Given the description of an element on the screen output the (x, y) to click on. 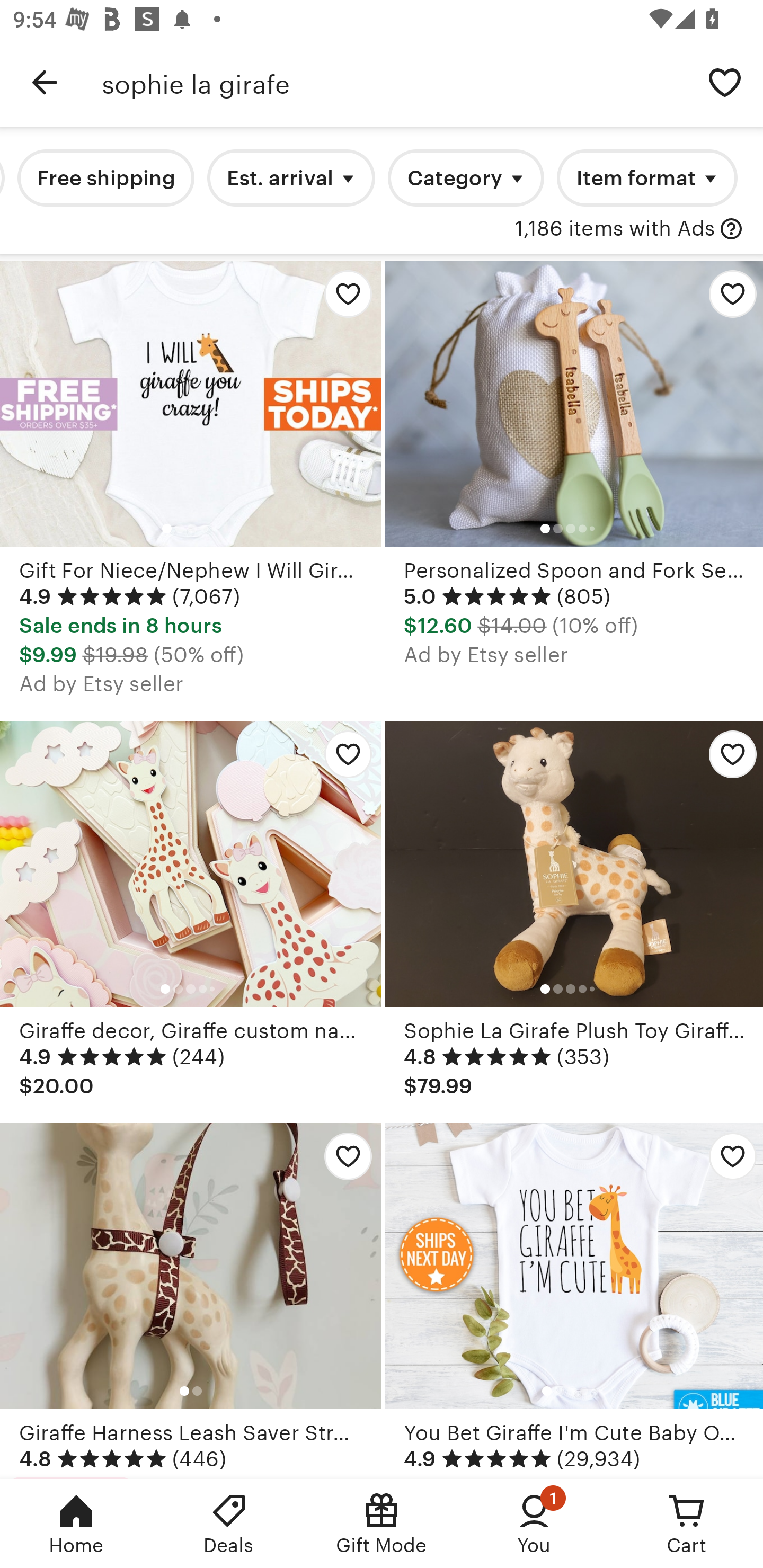
Navigate up (44, 82)
Save search (724, 81)
sophie la girafe (393, 82)
Free shipping (105, 177)
Est. arrival (291, 177)
Category (465, 177)
Item format (646, 177)
1,186 items with Ads (615, 228)
with Ads (730, 228)
Deals (228, 1523)
Gift Mode (381, 1523)
You, 1 new notification You (533, 1523)
Cart (686, 1523)
